Given the description of an element on the screen output the (x, y) to click on. 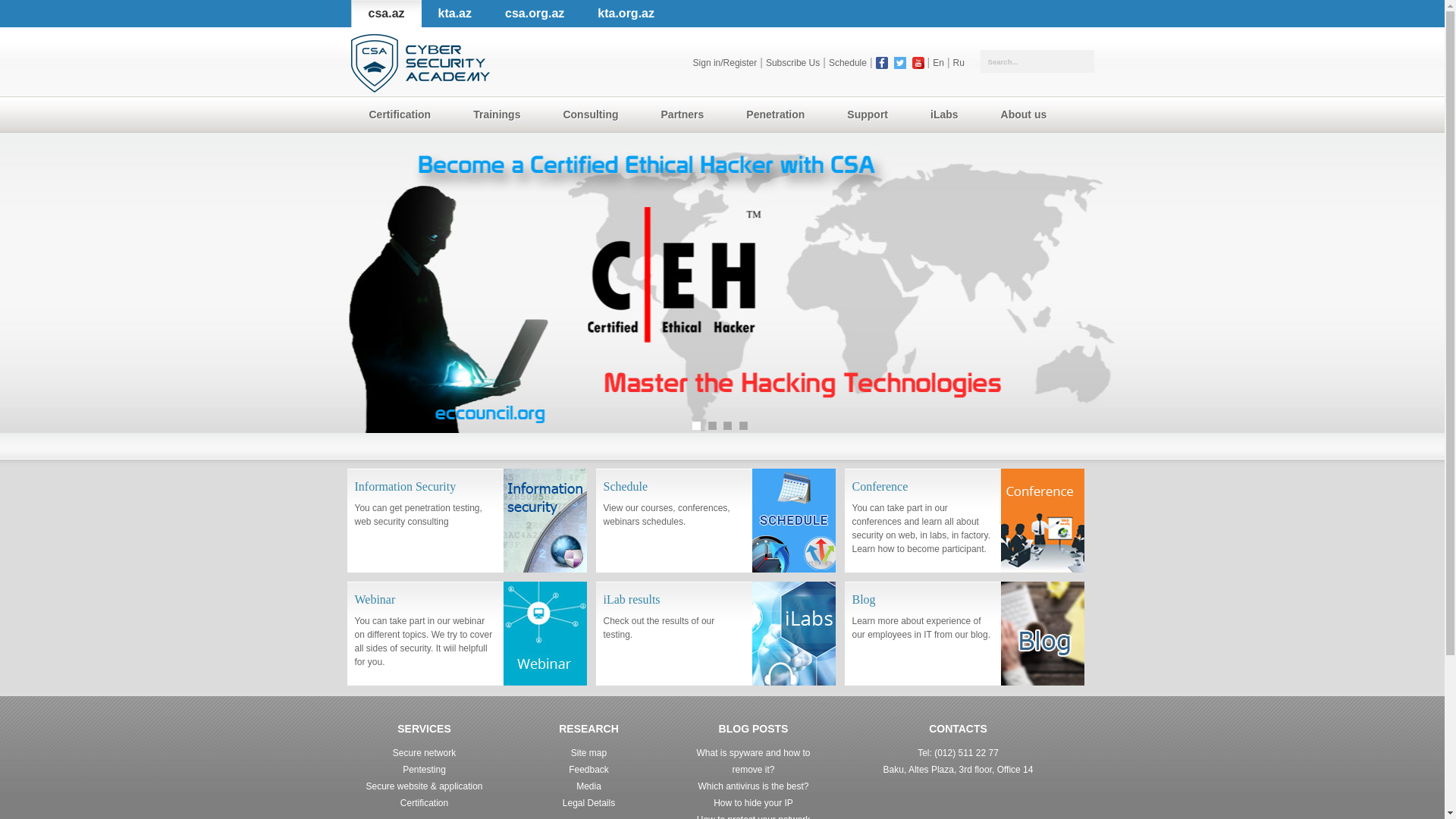
Subscribe Us Element type: text (792, 62)
Trainings Element type: text (499, 114)
Pentesting Element type: text (423, 769)
What is spyware and how to remove it? Element type: text (752, 761)
About us Element type: text (1026, 114)
iLabs Element type: text (947, 114)
Secure website & application Element type: text (423, 786)
kta.org.az Element type: text (625, 13)
Certification Element type: text (424, 802)
csa.org.az Element type: text (534, 13)
En Element type: text (938, 62)
Tel: (012) 511 22 77 Element type: text (957, 752)
Support Element type: text (870, 114)
How to hide your IP Element type: text (753, 802)
iLab results
Check out the results of our testing. Element type: text (715, 633)
Secure network Element type: text (423, 752)
Which antivirus is the best? Element type: text (752, 786)
Cyber Security Academy Element type: hover (419, 63)
Legal Details Element type: text (588, 802)
Ru Element type: text (958, 62)
Certification Element type: text (402, 114)
csa.az Element type: text (385, 13)
Partners Element type: text (685, 114)
kta.az Element type: text (454, 13)
Feedback Element type: text (588, 769)
Schedule Element type: text (847, 62)
Penetration Element type: text (778, 114)
Consulting Element type: text (593, 114)
Site map Element type: text (588, 752)
Baku, Altes Plaza, 3rd floor, Office 14 Element type: text (958, 769)
Schedule
View our courses, conferences, webinars schedules. Element type: text (715, 520)
Media Element type: text (588, 786)
Sign in/Register Element type: text (725, 62)
